Given the description of an element on the screen output the (x, y) to click on. 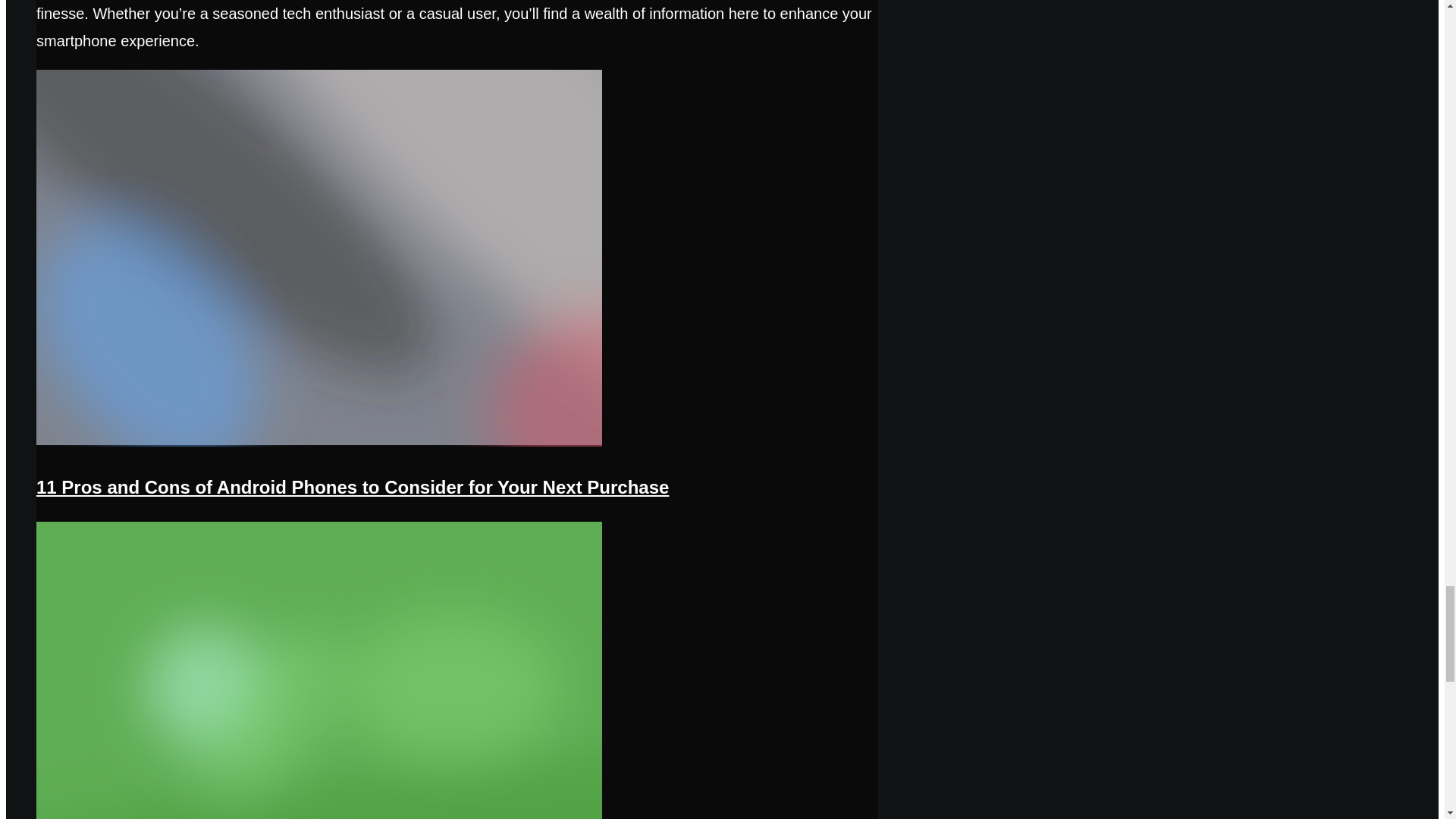
daniel-romero-aiUAxBNe3Xk-unsplash (319, 443)
